Given the description of an element on the screen output the (x, y) to click on. 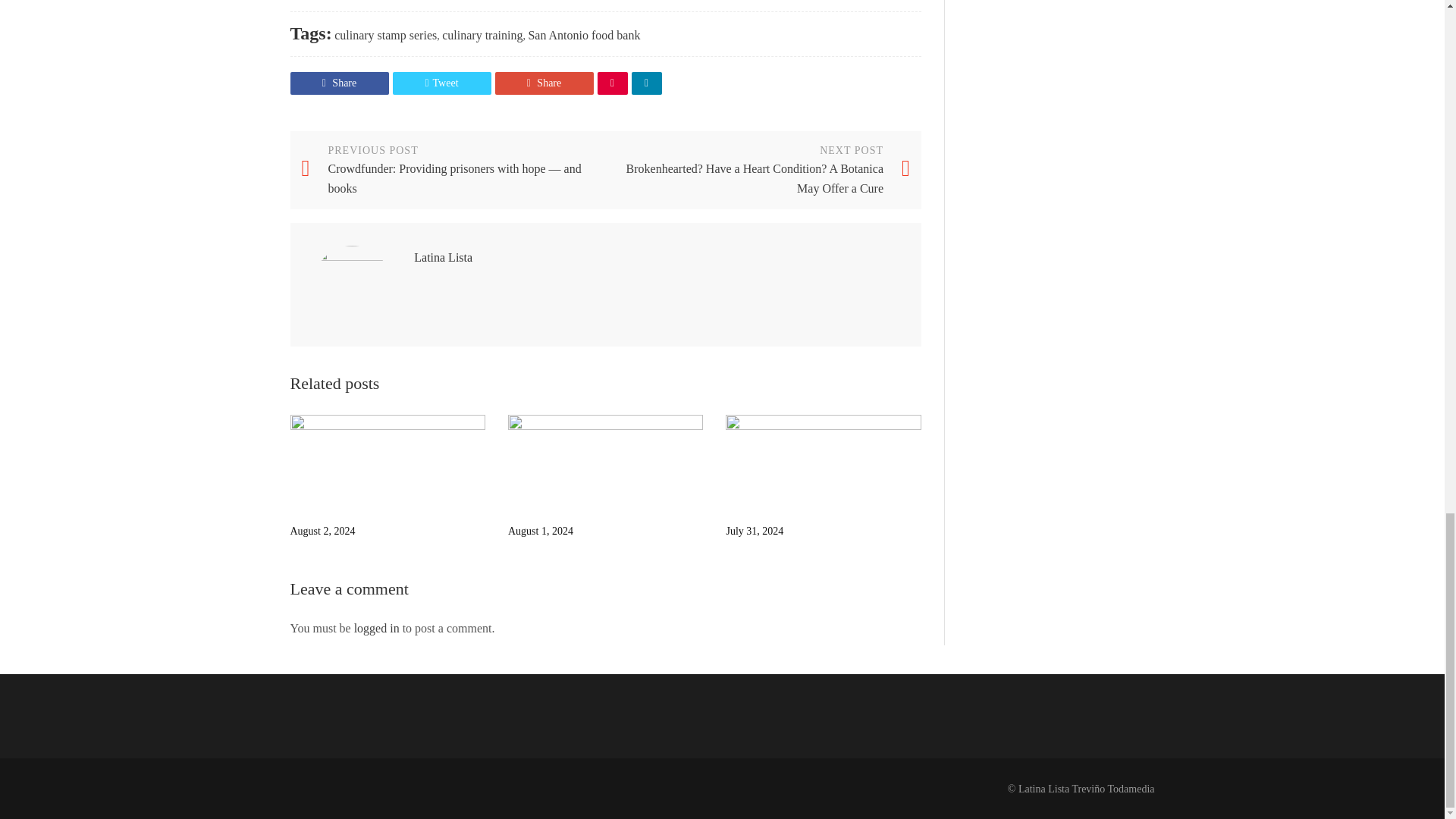
August 2, 2024 (386, 463)
Posts by Latina Lista (442, 256)
August 1, 2024 (605, 463)
July 31, 2024 (822, 463)
